Given the description of an element on the screen output the (x, y) to click on. 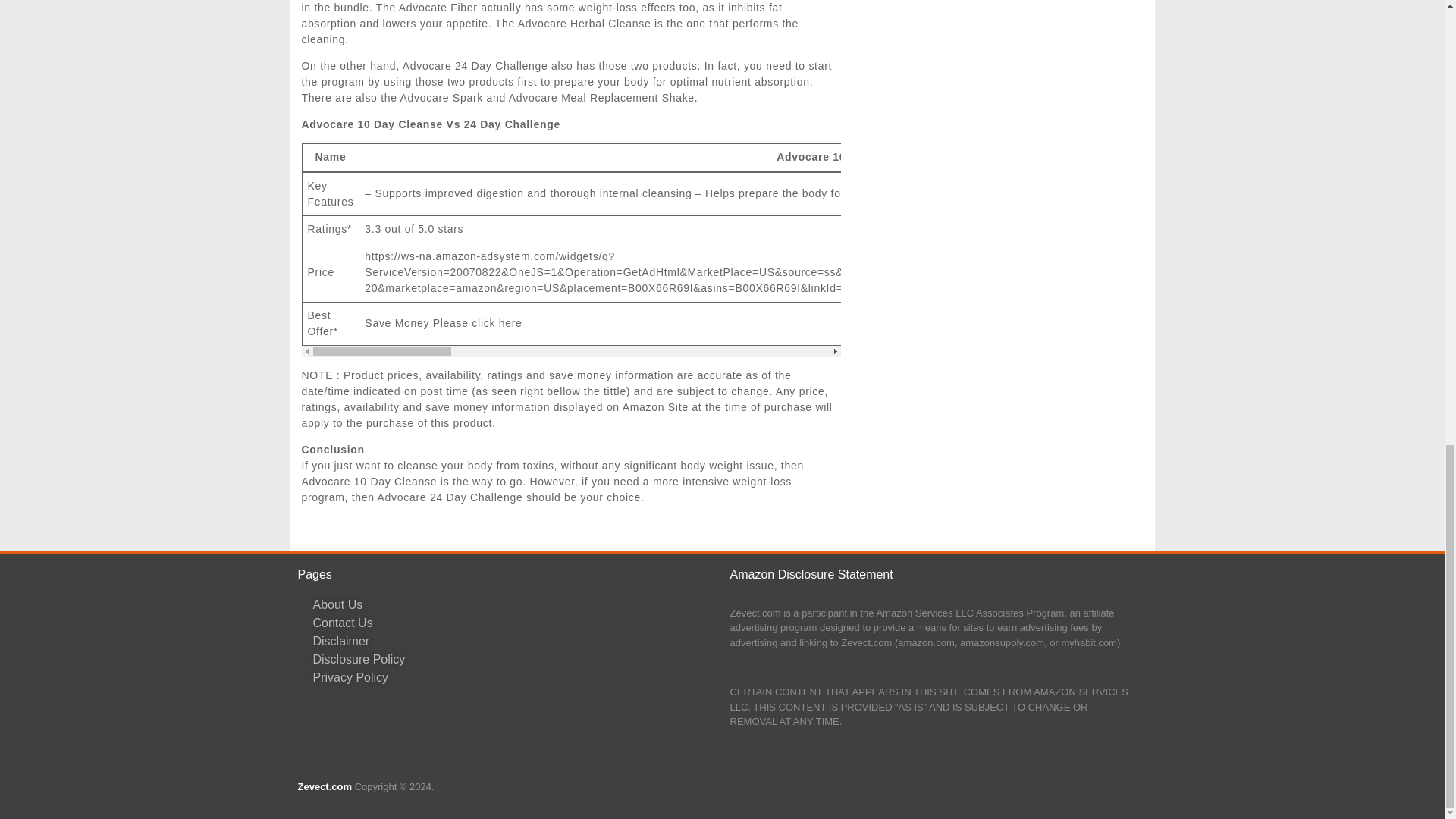
Privacy Policy (513, 678)
Contact Us (513, 623)
About Us (513, 605)
Disclosure Policy (513, 659)
Disclaimer (513, 641)
